Given the description of an element on the screen output the (x, y) to click on. 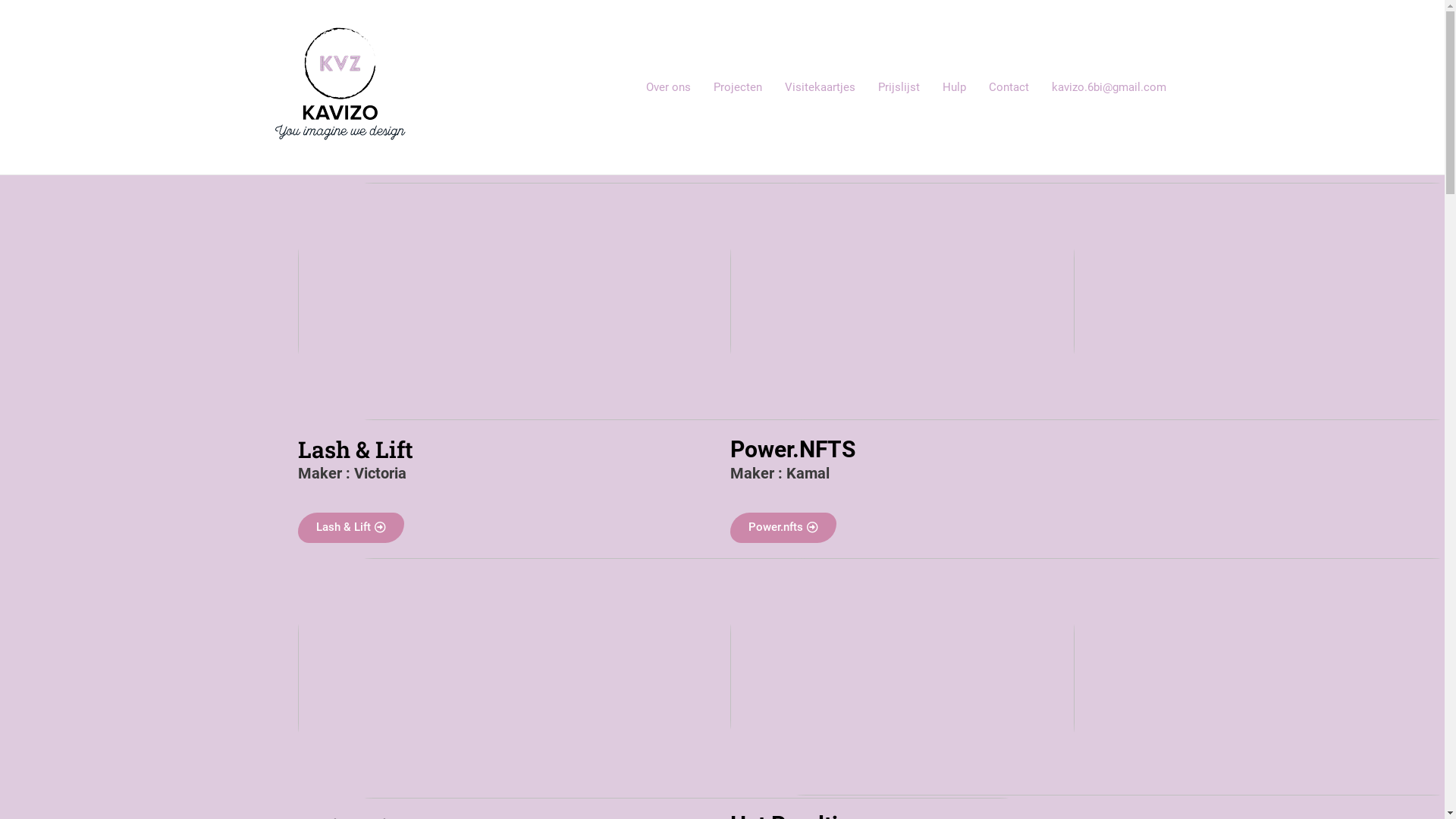
Lash & Lift Element type: text (350, 527)
Over ons Element type: text (667, 86)
Power.nfts Element type: text (782, 527)
kavizo.6bi@gmail.com Element type: text (1108, 86)
Visitekaartjes Element type: text (819, 86)
Prijslijst Element type: text (898, 86)
Hulp Element type: text (954, 86)
Contact Element type: text (1007, 86)
Projecten Element type: text (737, 86)
